Given the description of an element on the screen output the (x, y) to click on. 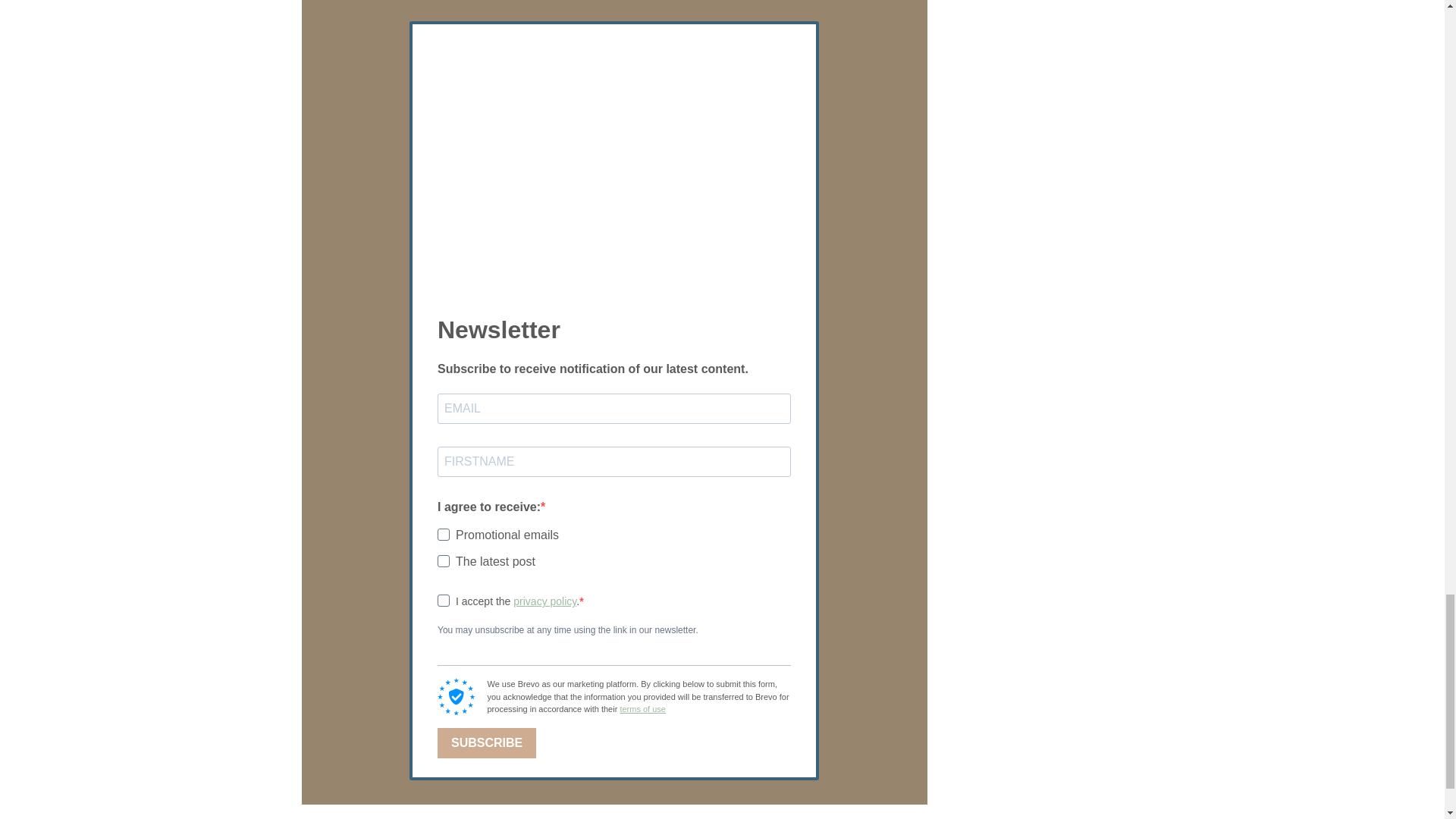
SUBSCRIBE (486, 743)
privacy policy (544, 601)
terms of use (642, 708)
